Given the description of an element on the screen output the (x, y) to click on. 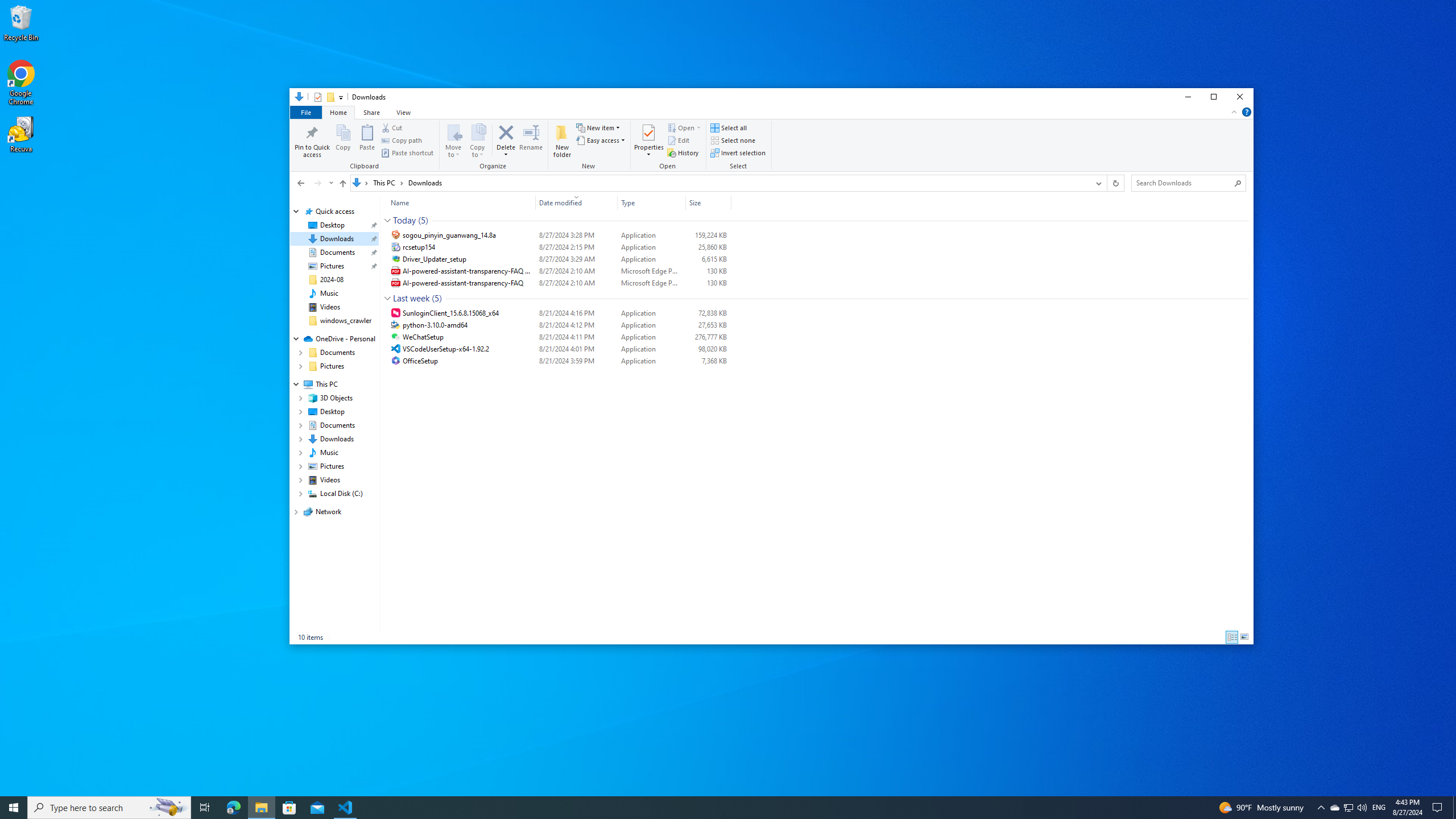
Select none (733, 140)
Properties (317, 96)
Large Icons (1243, 636)
Address: Downloads (719, 182)
Search Box (1182, 182)
Clipboard (365, 145)
Navigation buttons (314, 182)
Count (436, 298)
Up to "This PC" (Alt + Up Arrow) (342, 183)
Name (458, 202)
Maximize (1214, 96)
